Given the description of an element on the screen output the (x, y) to click on. 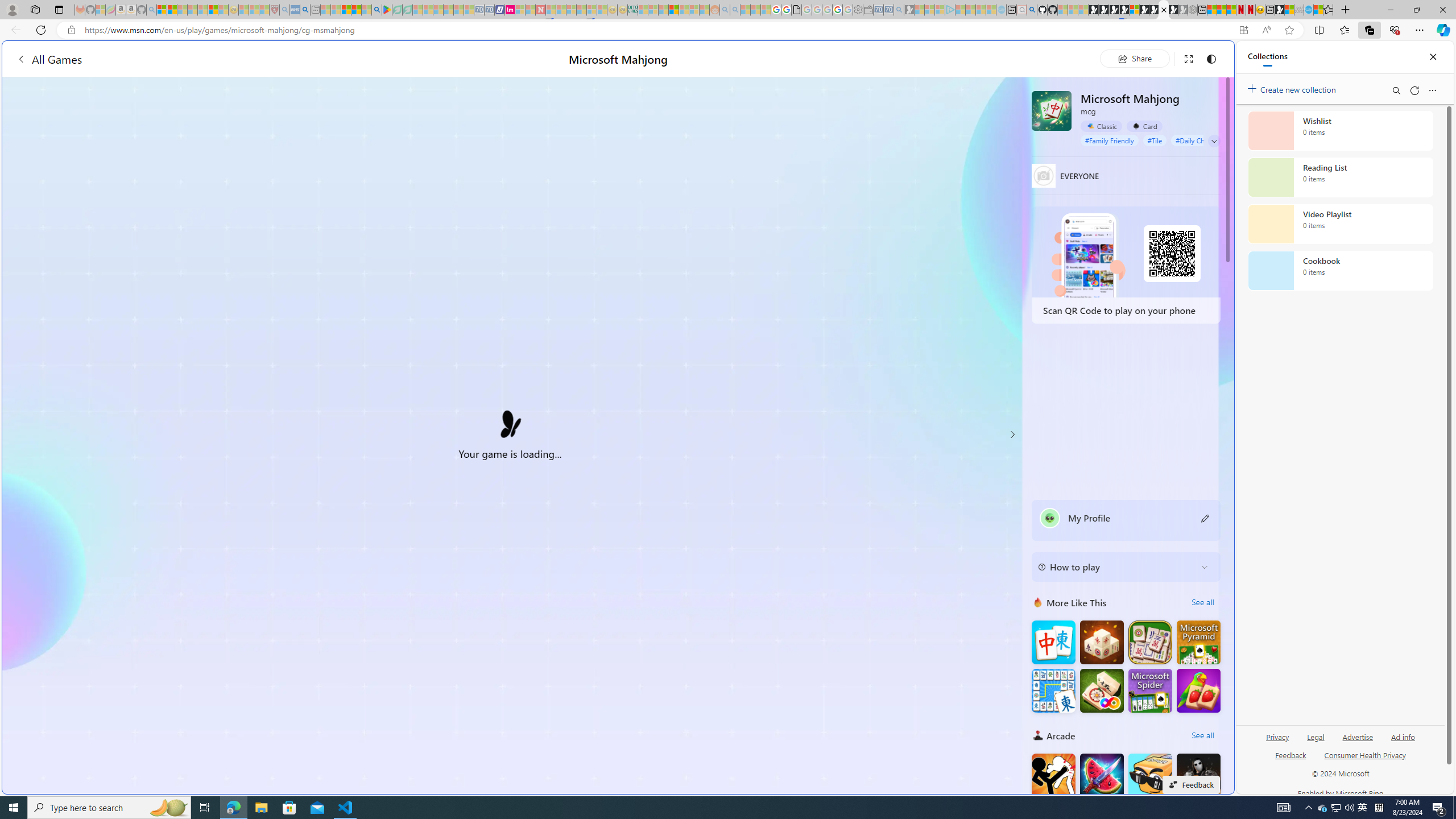
Mahjong FRVR (1101, 690)
Cubes2048 (1149, 775)
Classic (1101, 126)
Change to dark mode (1211, 58)
